Given the description of an element on the screen output the (x, y) to click on. 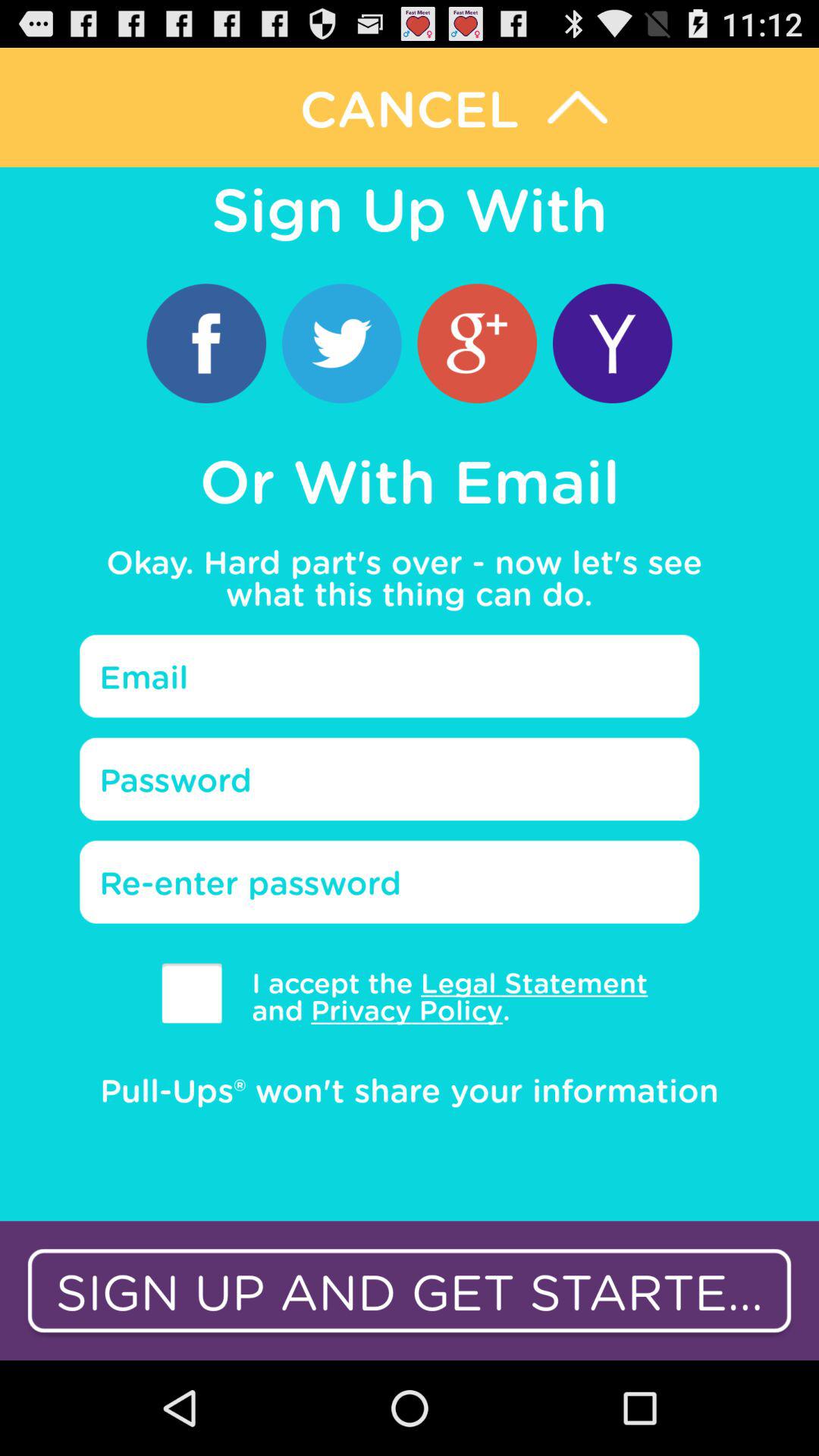
re input password (389, 881)
